Given the description of an element on the screen output the (x, y) to click on. 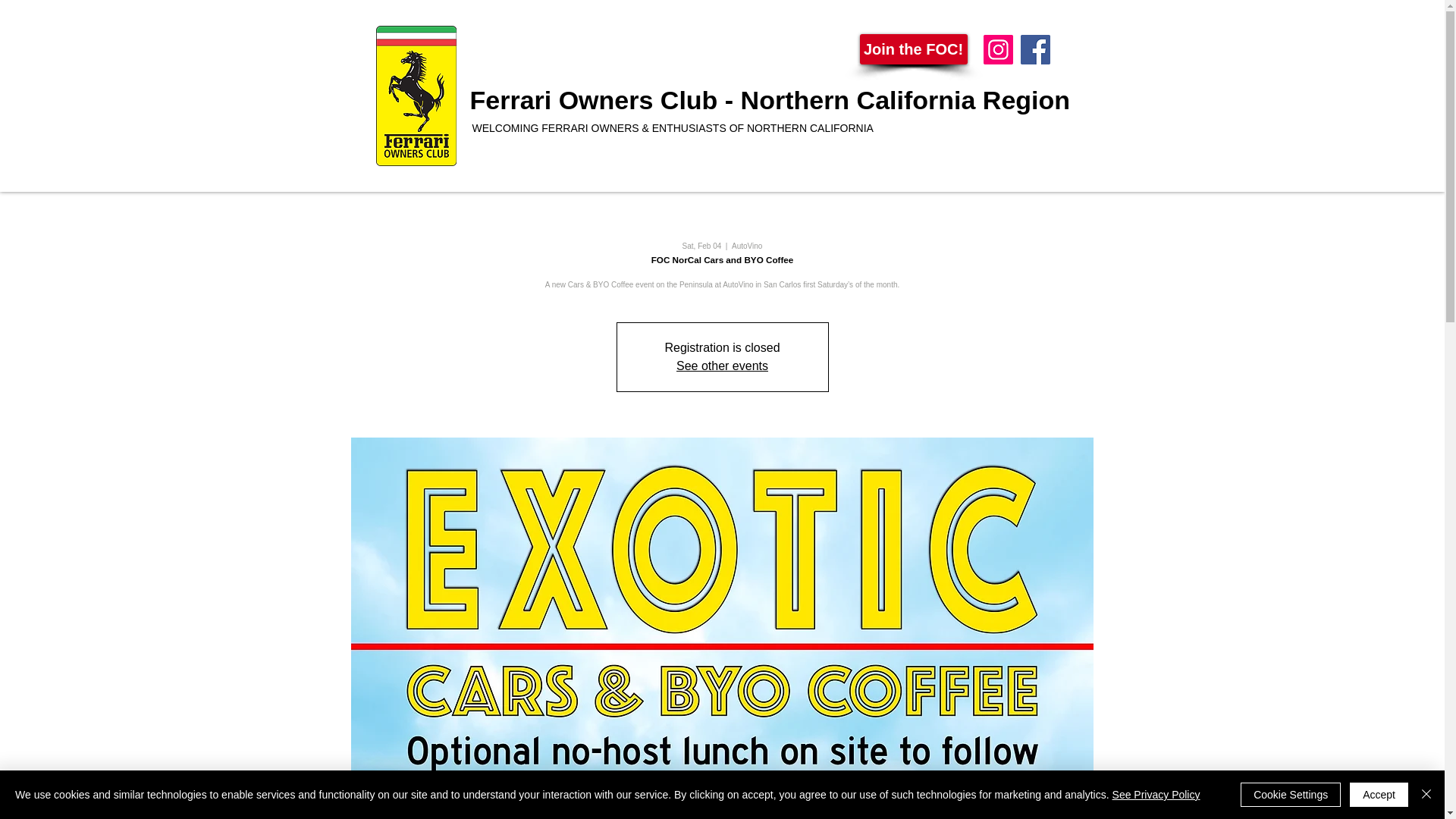
See Privacy Policy (1155, 794)
Ferrari Owners Club - Northern California Region (770, 99)
Accept (1378, 794)
Cookie Settings (1290, 794)
See other events (722, 365)
Join the FOC! (914, 49)
